Given the description of an element on the screen output the (x, y) to click on. 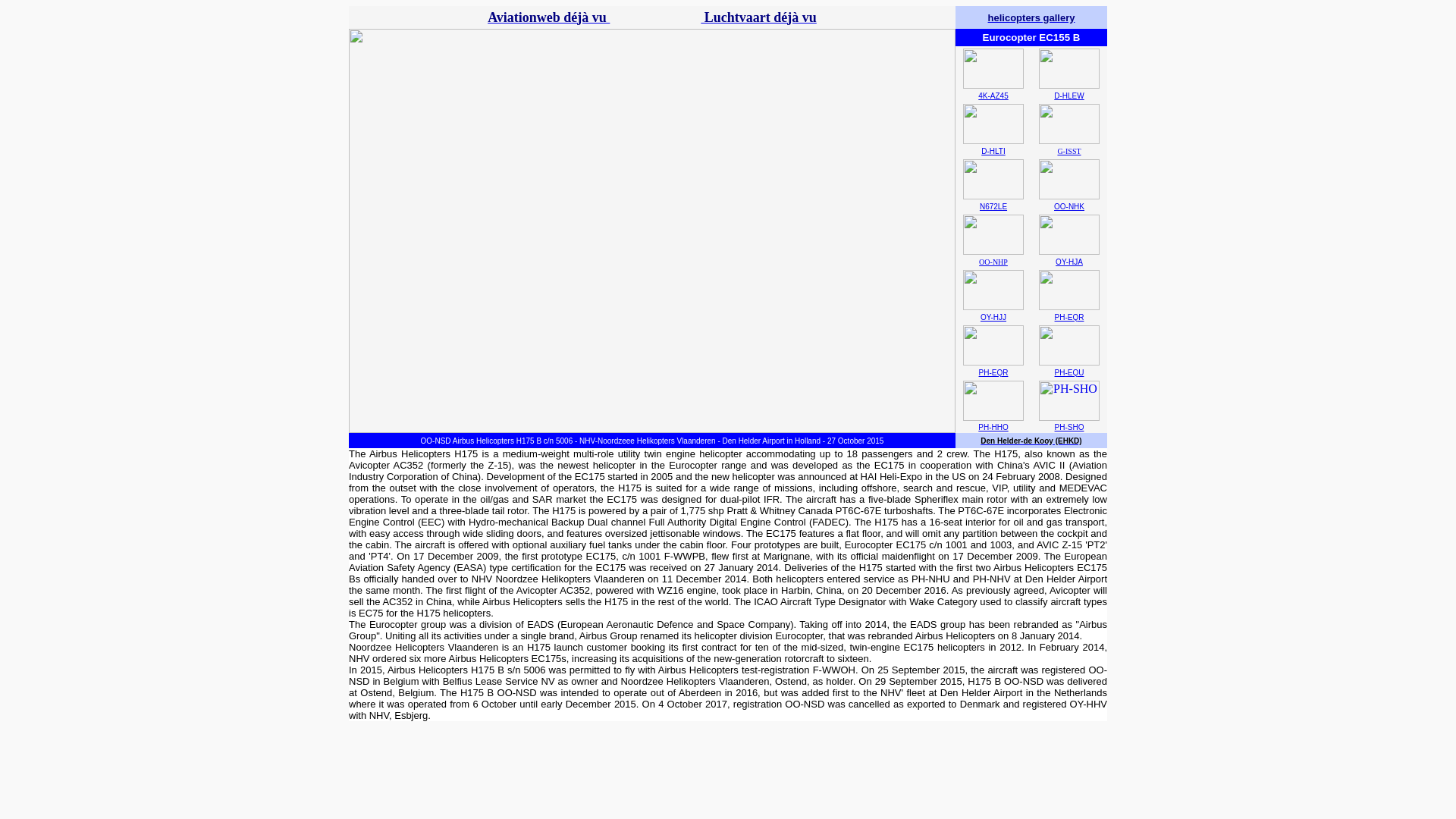
OY-HJJ (992, 316)
D-HLTI (992, 151)
D-HLEW (1068, 95)
4K-AZ45 (992, 95)
OY-HJA (1069, 261)
PH-EQR (1069, 316)
N672LE (993, 206)
PH-EQU (1069, 372)
PH-EQR (993, 372)
OO-NHK (1069, 206)
helicopters gallery (1031, 16)
G-ISST (1068, 151)
OO-NHP (992, 261)
PH-HHO (992, 427)
PH-SHO (1069, 427)
